Given the description of an element on the screen output the (x, y) to click on. 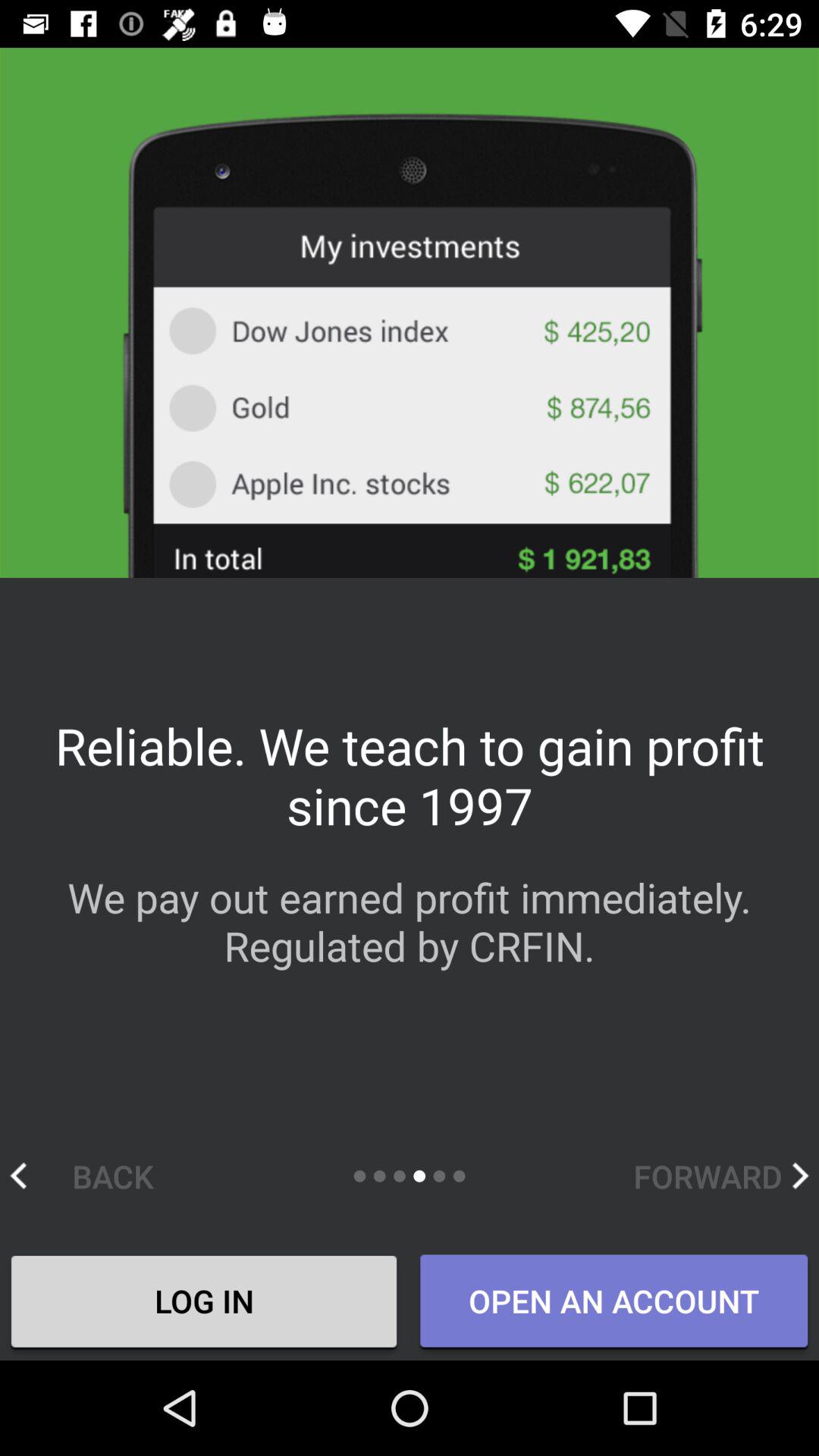
choose item to the right of log in icon (613, 1302)
